Given the description of an element on the screen output the (x, y) to click on. 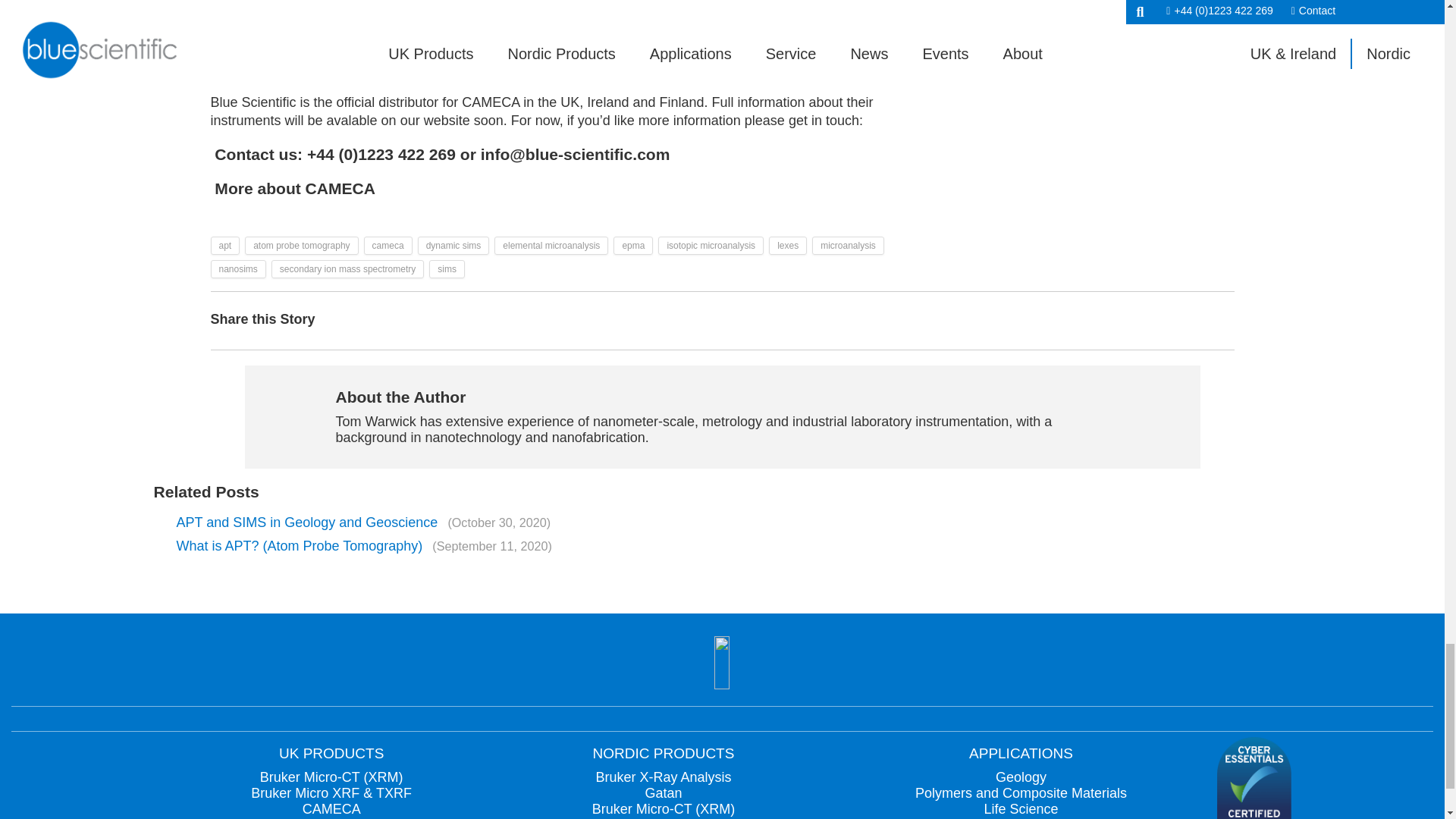
Twitter (1150, 320)
LinkedIn (1184, 320)
E-Mail (1219, 320)
Facebook (1115, 320)
Permanent Link to APT and SIMS in Geology and Geoscience (363, 522)
